Given the description of an element on the screen output the (x, y) to click on. 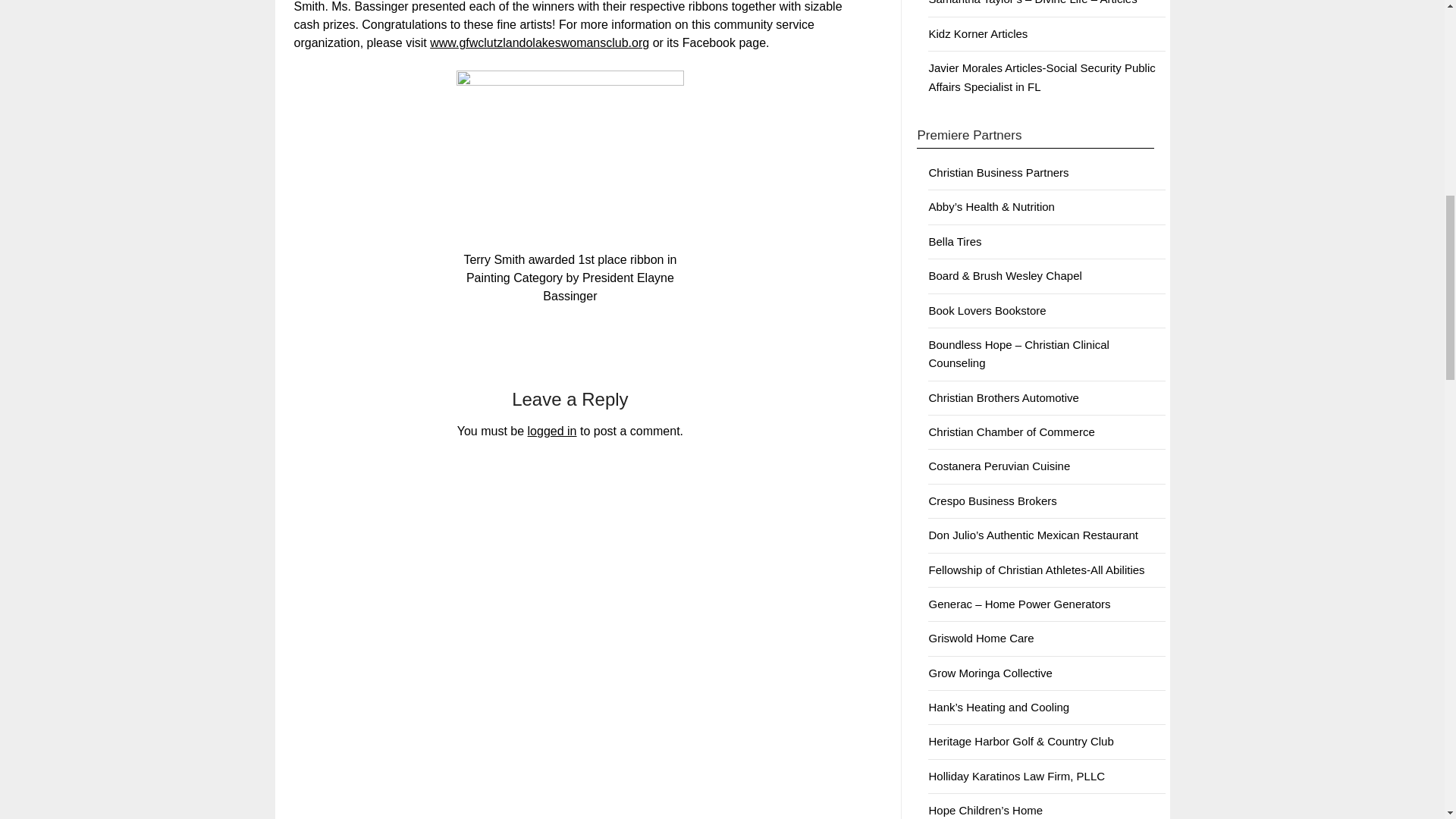
Grow Moringa Collective (989, 672)
Kidz Korner Articles (977, 33)
Costanera Peruvian Cuisine (999, 465)
Fellowship of Christian Athletes-All Abilities (1036, 569)
Christian Brothers Automotive (1003, 397)
Book Lovers Bookstore (986, 309)
Christian Chamber of Commerce (1011, 431)
Griswold Home Care (980, 637)
Bella Tires (954, 241)
www.gfwclutzlandolakeswomansclub.org (539, 42)
logged in (551, 431)
Christian Business Partners (998, 172)
Crespo Business Brokers (992, 500)
